Given the description of an element on the screen output the (x, y) to click on. 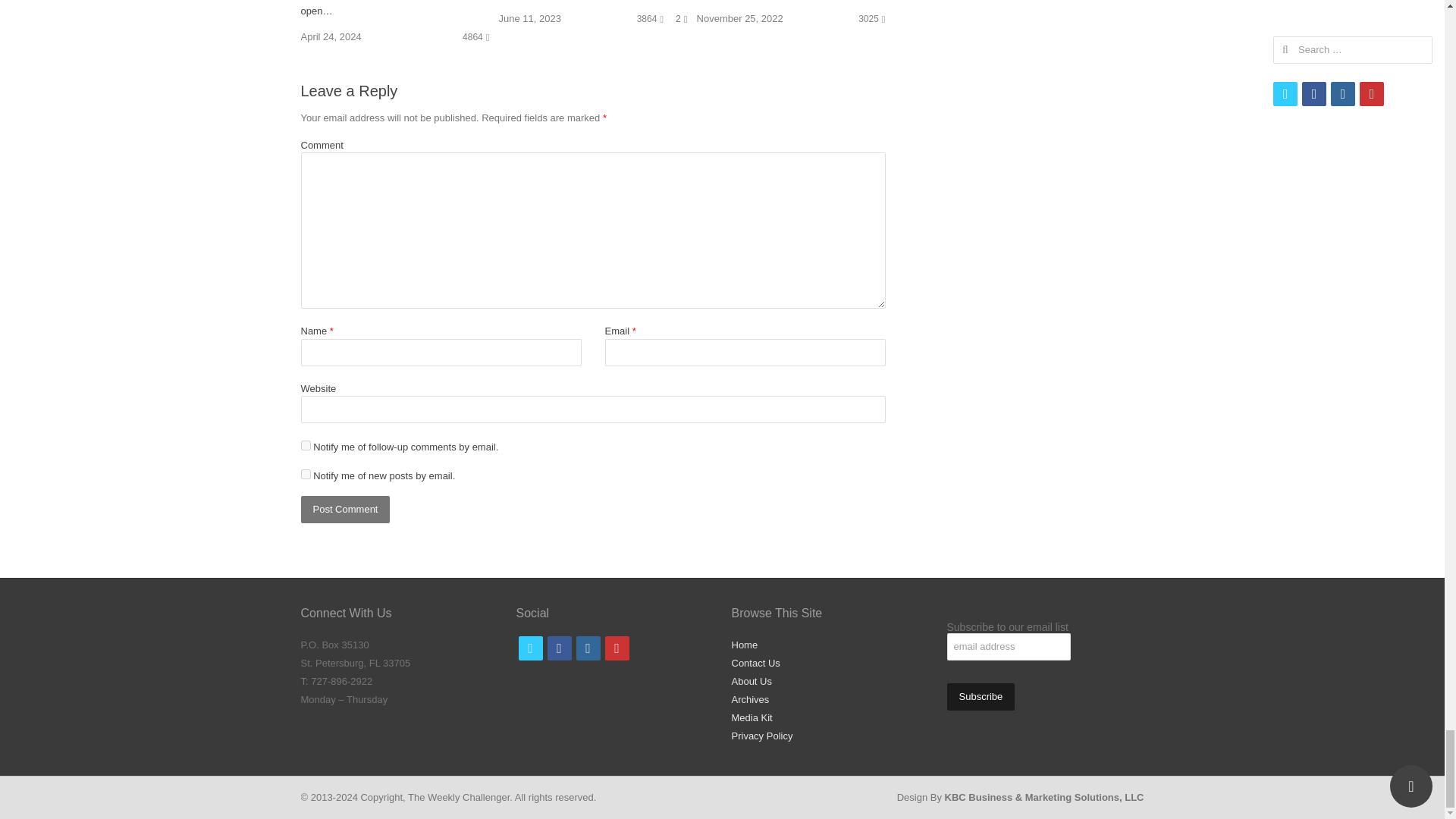
subscribe (304, 445)
subscribe (304, 474)
Post Comment (344, 509)
Subscribe (980, 696)
